Given the description of an element on the screen output the (x, y) to click on. 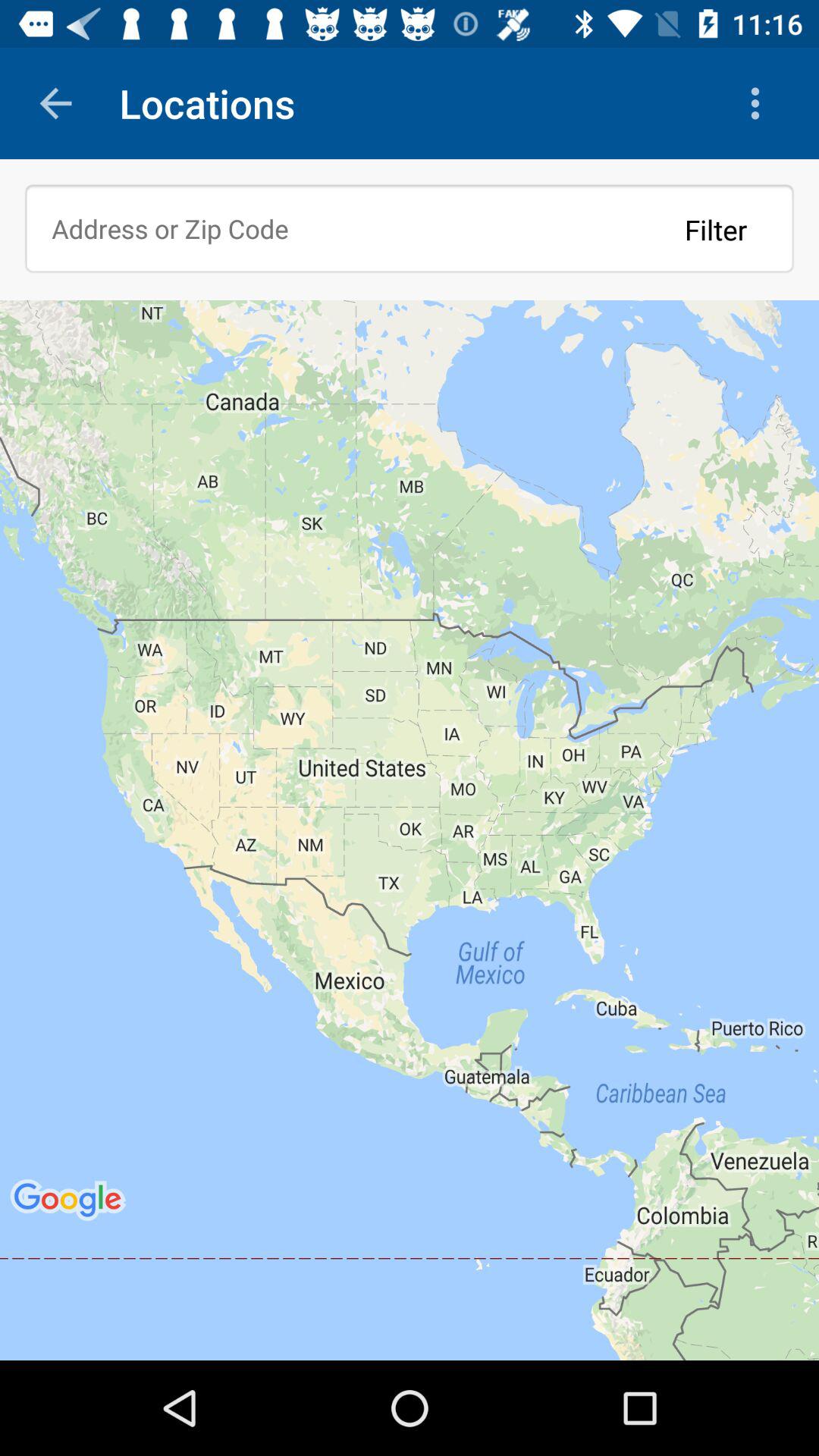
click icon next to the locations app (759, 103)
